Given the description of an element on the screen output the (x, y) to click on. 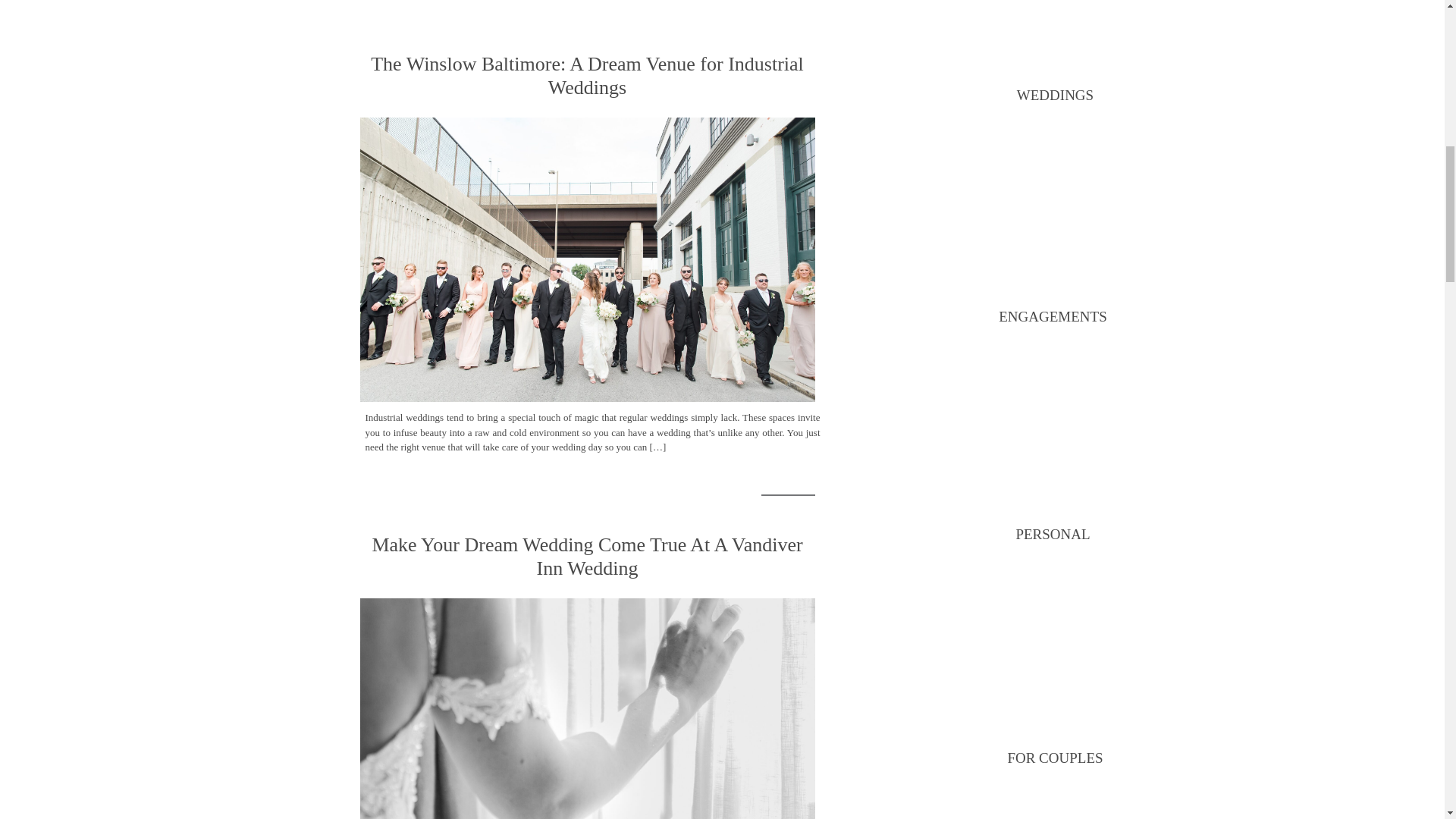
FOR COUPLES (1054, 759)
WEDDINGS (1054, 95)
Make Your Dream Wedding Come True At A Vandiver Inn Wedding (586, 708)
ENGAGEMENTS (1053, 317)
The Winslow Baltimore: A Dream Venue for Industrial Weddings (586, 259)
PERSONAL (1052, 535)
